Given the description of an element on the screen output the (x, y) to click on. 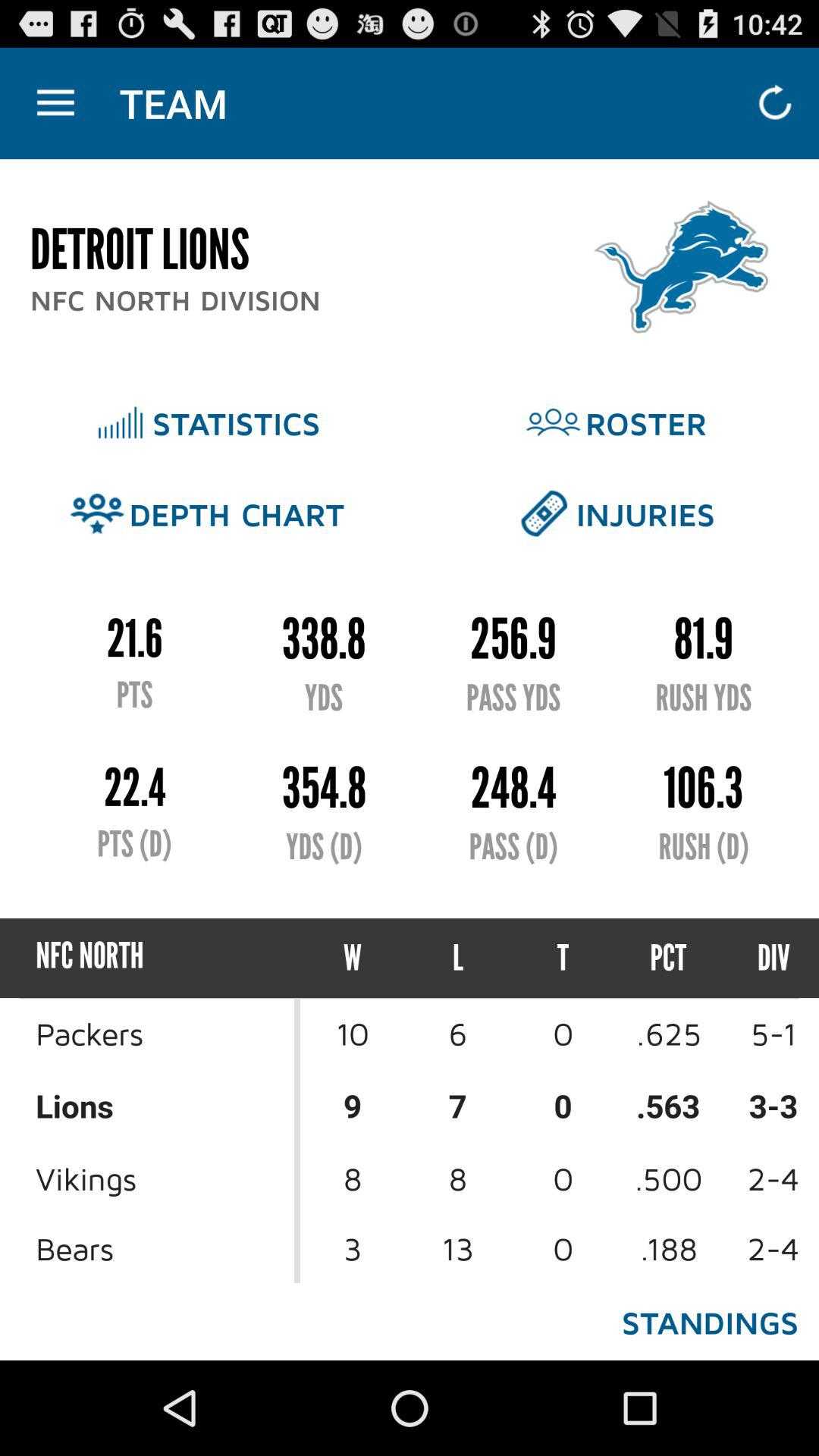
tap the pct (668, 958)
